Given the description of an element on the screen output the (x, y) to click on. 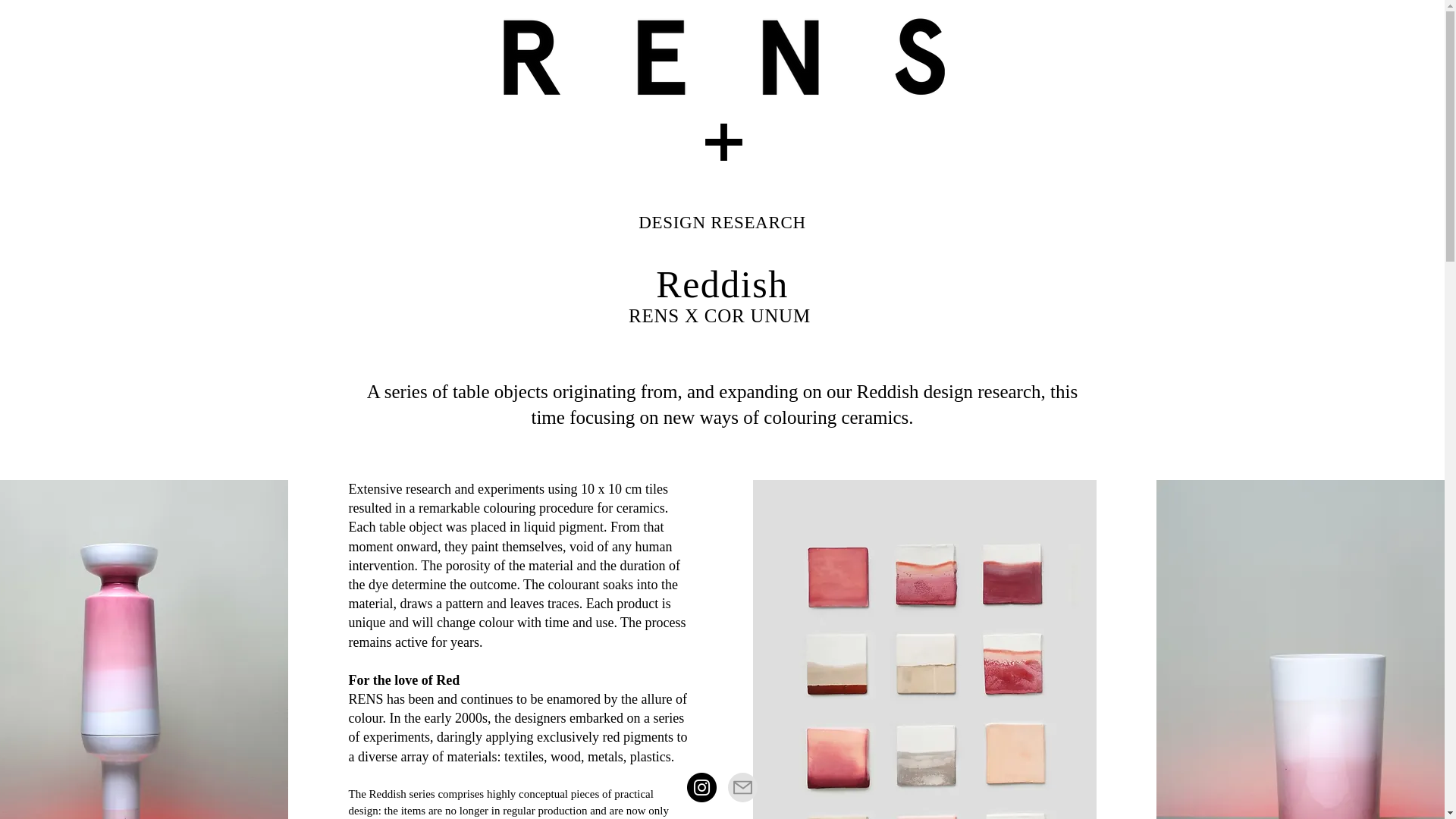
DESIGN RESEARCH (722, 221)
